Given the description of an element on the screen output the (x, y) to click on. 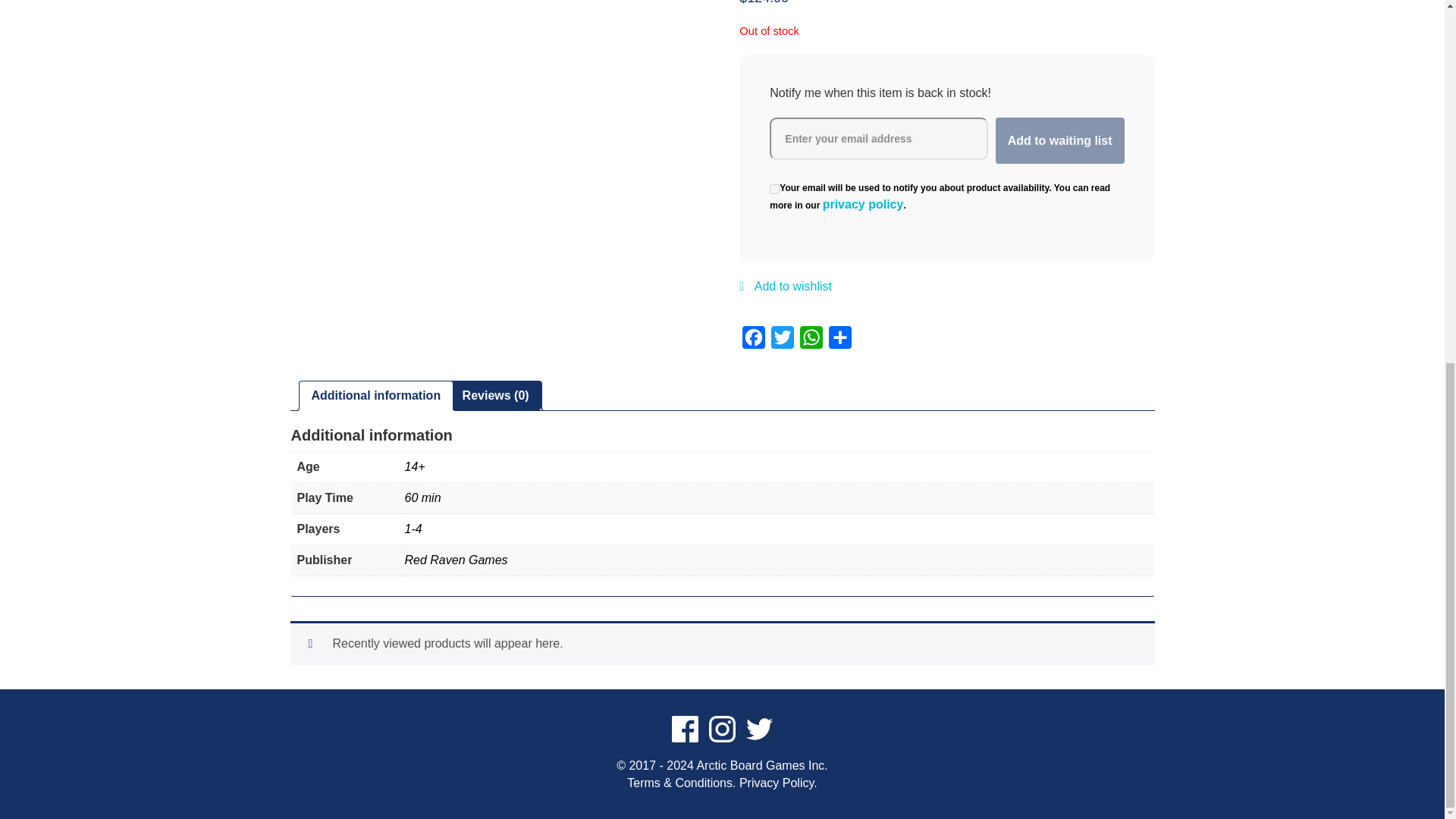
yes (774, 189)
WhatsApp (810, 340)
1-4 (413, 529)
Facebook (753, 340)
Facebook (753, 340)
Twitter (782, 340)
Share (839, 340)
WhatsApp (810, 340)
Add to waiting list (1059, 140)
Twitter (782, 340)
Add to wishlist (785, 294)
privacy policy (863, 204)
Add to waiting list (1059, 140)
Additional information (376, 396)
